Given the description of an element on the screen output the (x, y) to click on. 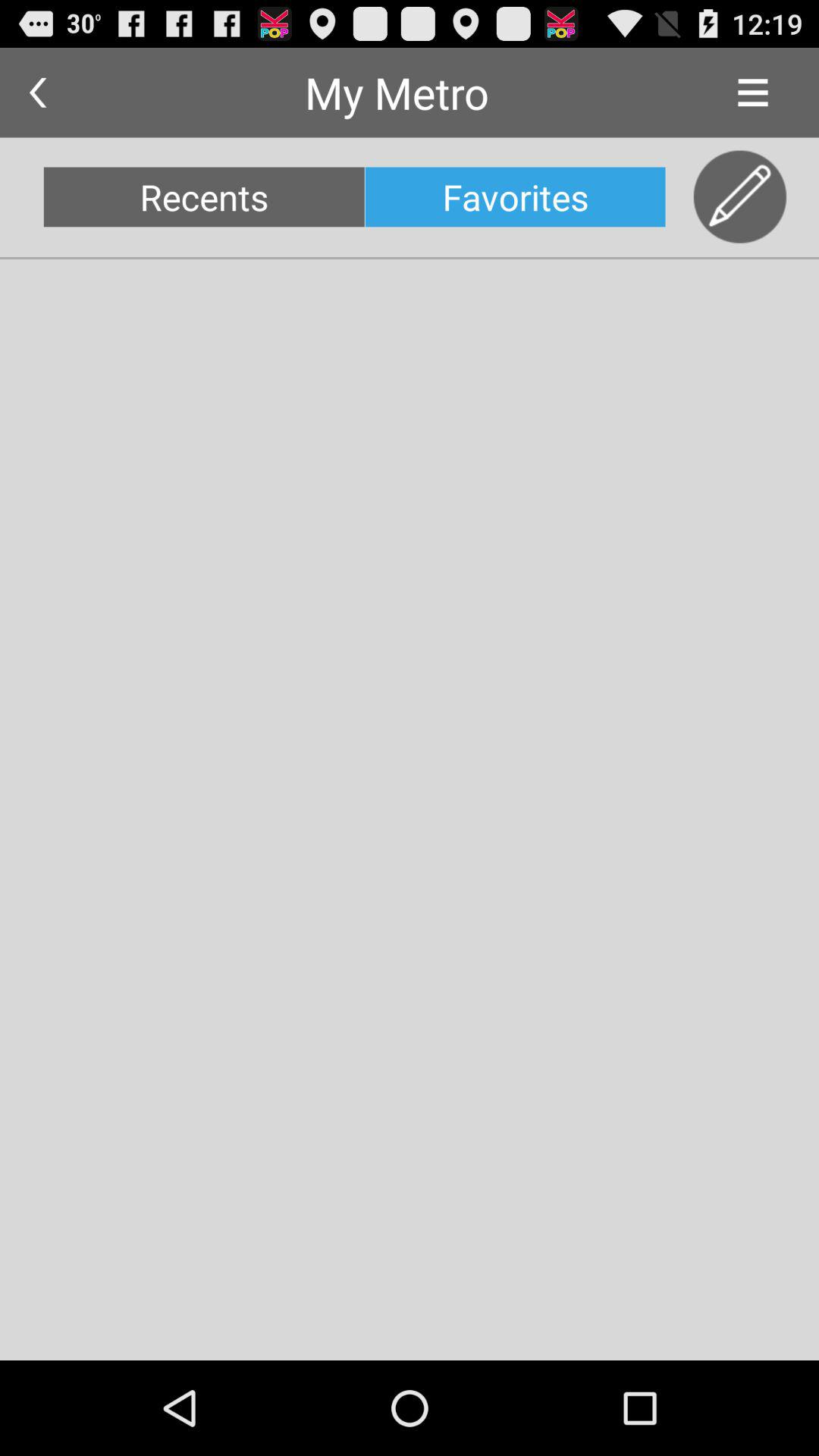
turn off recents icon (203, 196)
